Given the description of an element on the screen output the (x, y) to click on. 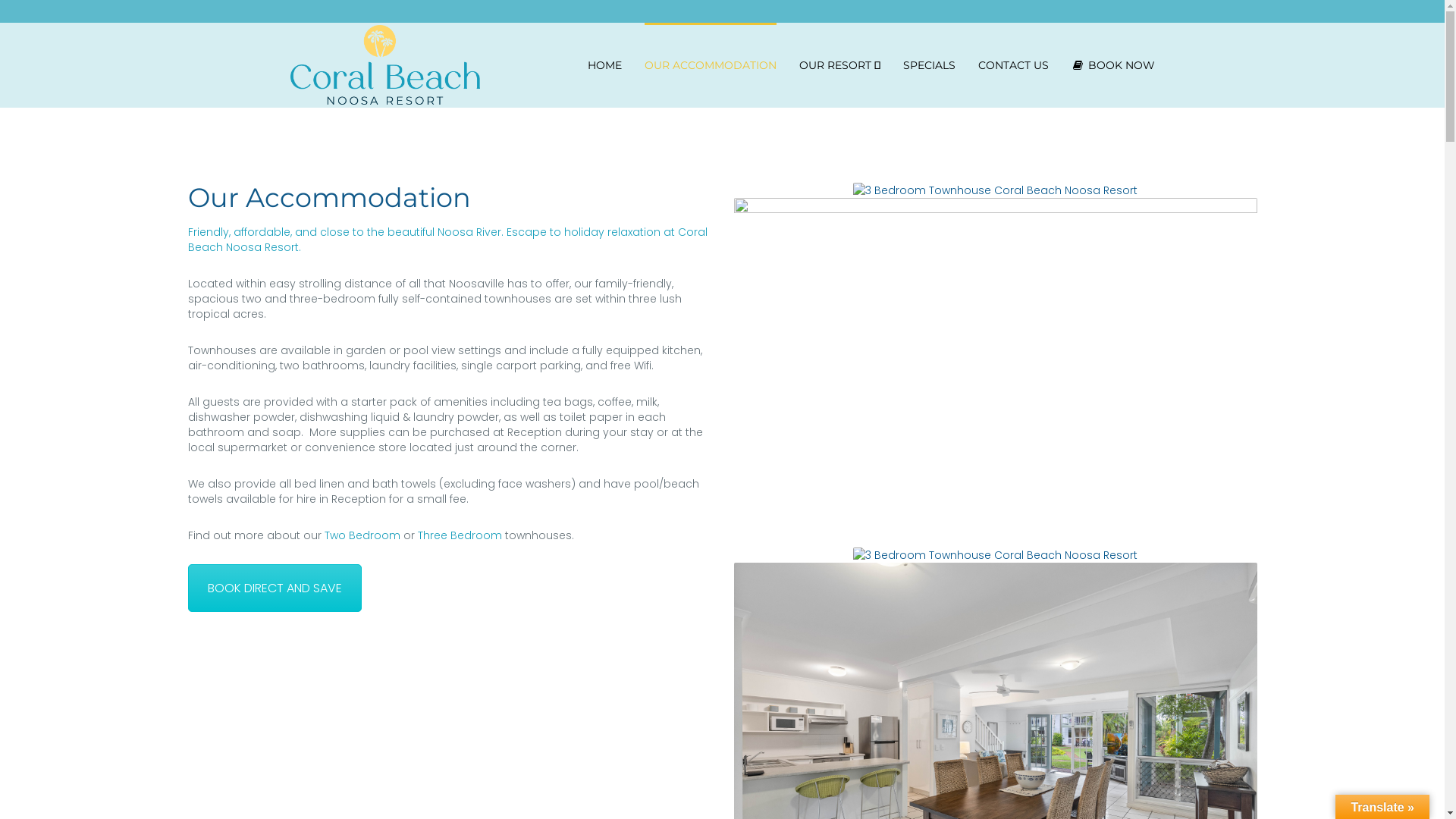
3 Bedroom Living Dining Element type: hover (995, 553)
3 Bedroom Dining Kitchen Living Element type: hover (995, 189)
CONTACT US Element type: text (1013, 64)
Three Bedroom Element type: text (459, 534)
SPECIALS Element type: text (928, 64)
3 Bedroom Dining Kitchen Living Element type: hover (995, 735)
BOOK DIRECT AND SAVE Element type: text (274, 587)
3-bedroom-townhouse-19 Element type: hover (995, 371)
Two Bedroom Element type: text (362, 534)
OUR ACCOMMODATION Element type: text (710, 64)
HOME Element type: text (603, 64)
BOOK NOW Element type: text (1112, 64)
